Given the description of an element on the screen output the (x, y) to click on. 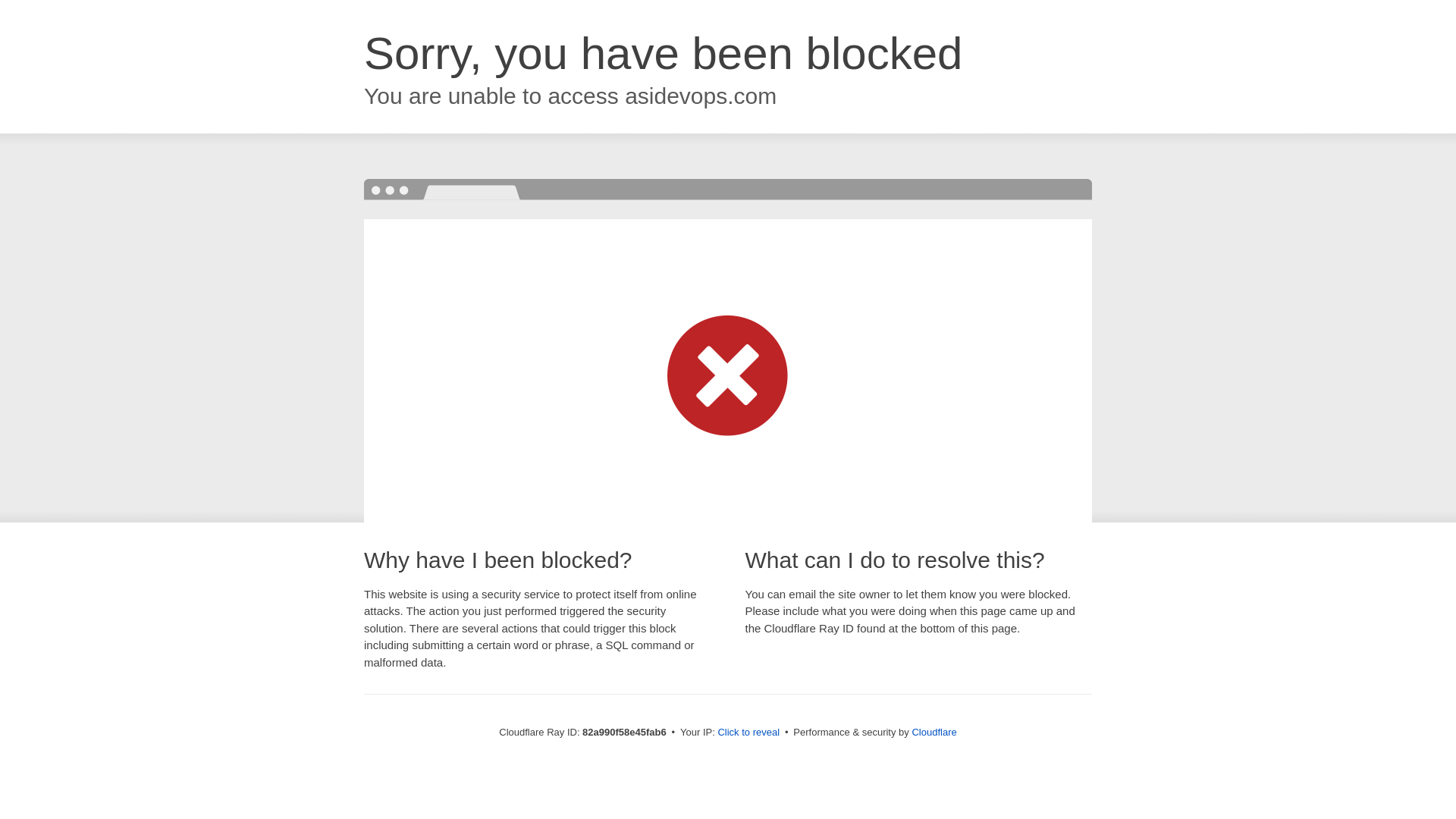
Cloudflare Element type: text (933, 731)
Click to reveal Element type: text (748, 732)
